Given the description of an element on the screen output the (x, y) to click on. 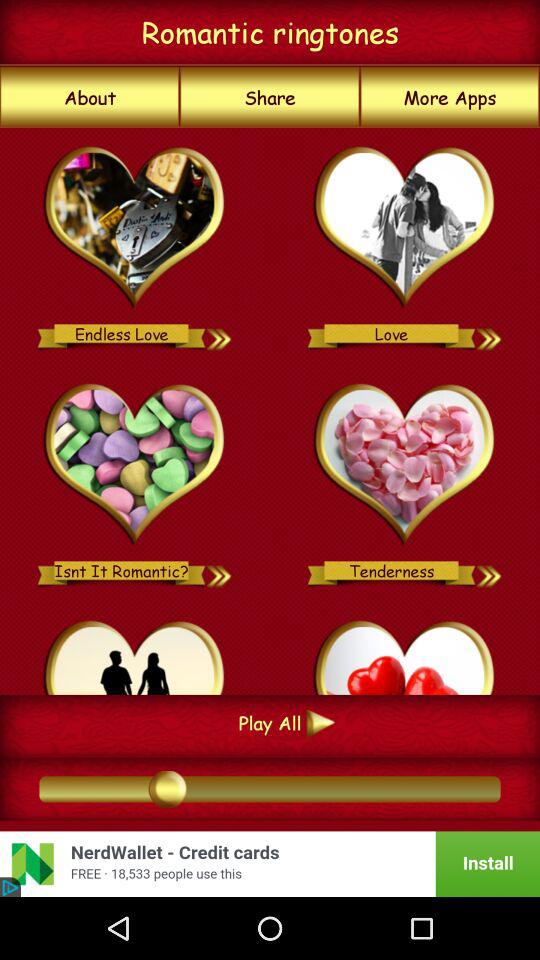
select love (404, 228)
